Given the description of an element on the screen output the (x, y) to click on. 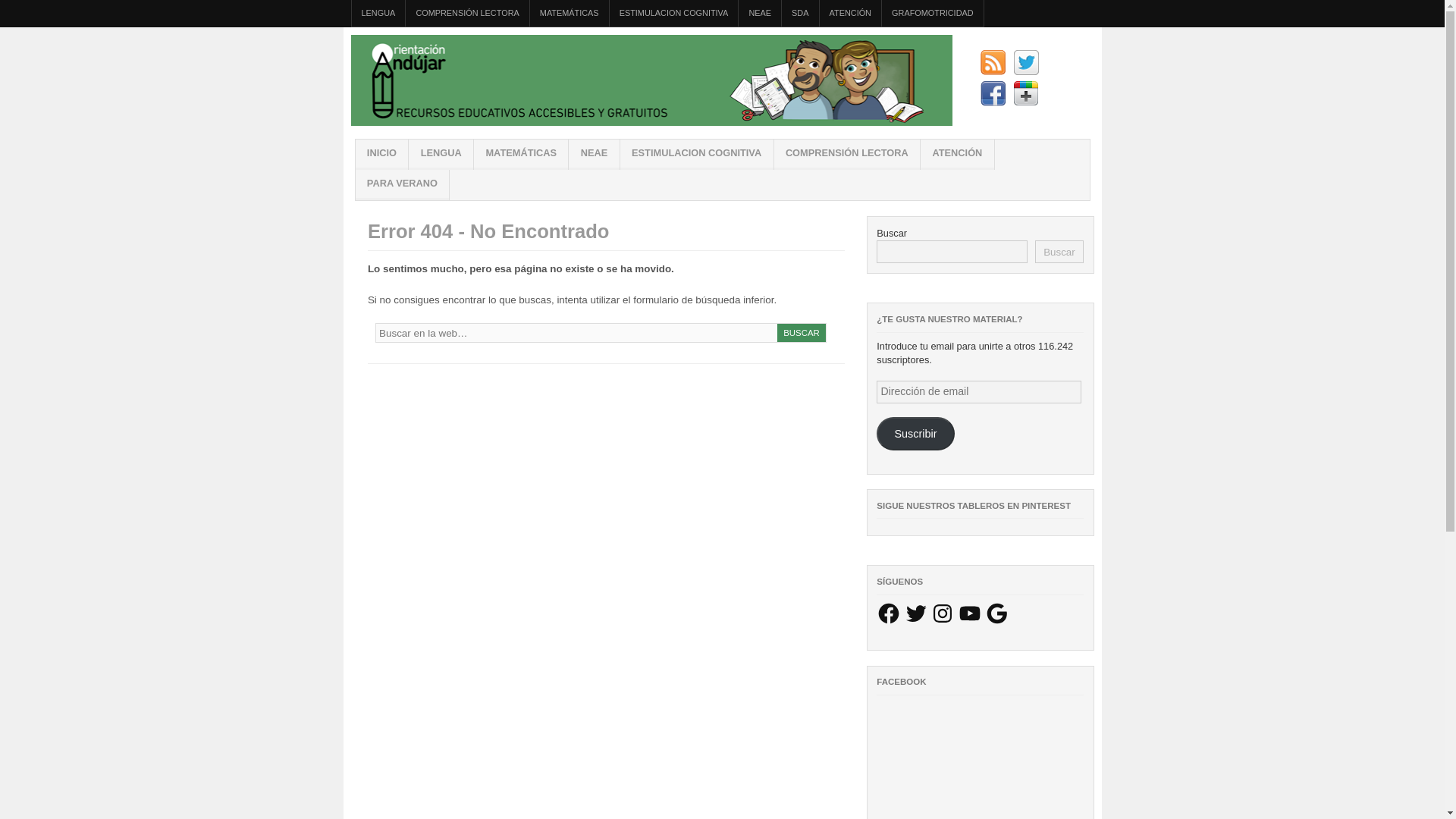
Materiales educativos (381, 154)
LENGUA (379, 13)
GRAFOMOTRICIDAD (933, 13)
Recursos educativos (651, 122)
Materiales de lengua (379, 13)
ESTIMULACION COGNITIVA (674, 13)
NEAE (759, 13)
SDA (799, 13)
Buscar (802, 332)
